Given the description of an element on the screen output the (x, y) to click on. 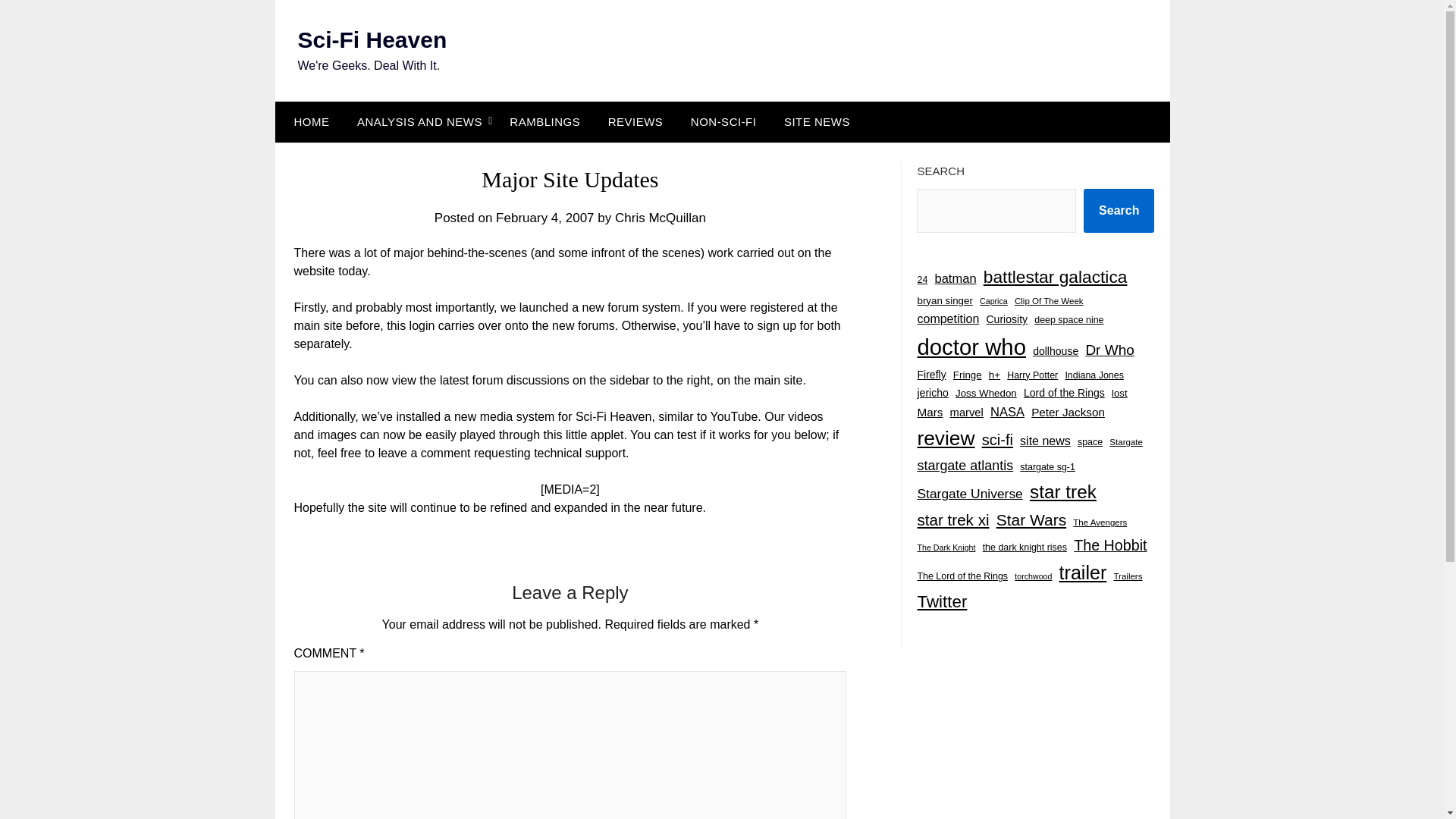
Search (1118, 210)
Indiana Jones (1093, 375)
Harry Potter (1032, 375)
NASA (1007, 412)
Firefly (930, 375)
Clip Of The Week (1048, 301)
Sci-Fi Heaven (371, 39)
NON-SCI-FI (723, 121)
February 4, 2007 (545, 217)
REVIEWS (635, 121)
